Given the description of an element on the screen output the (x, y) to click on. 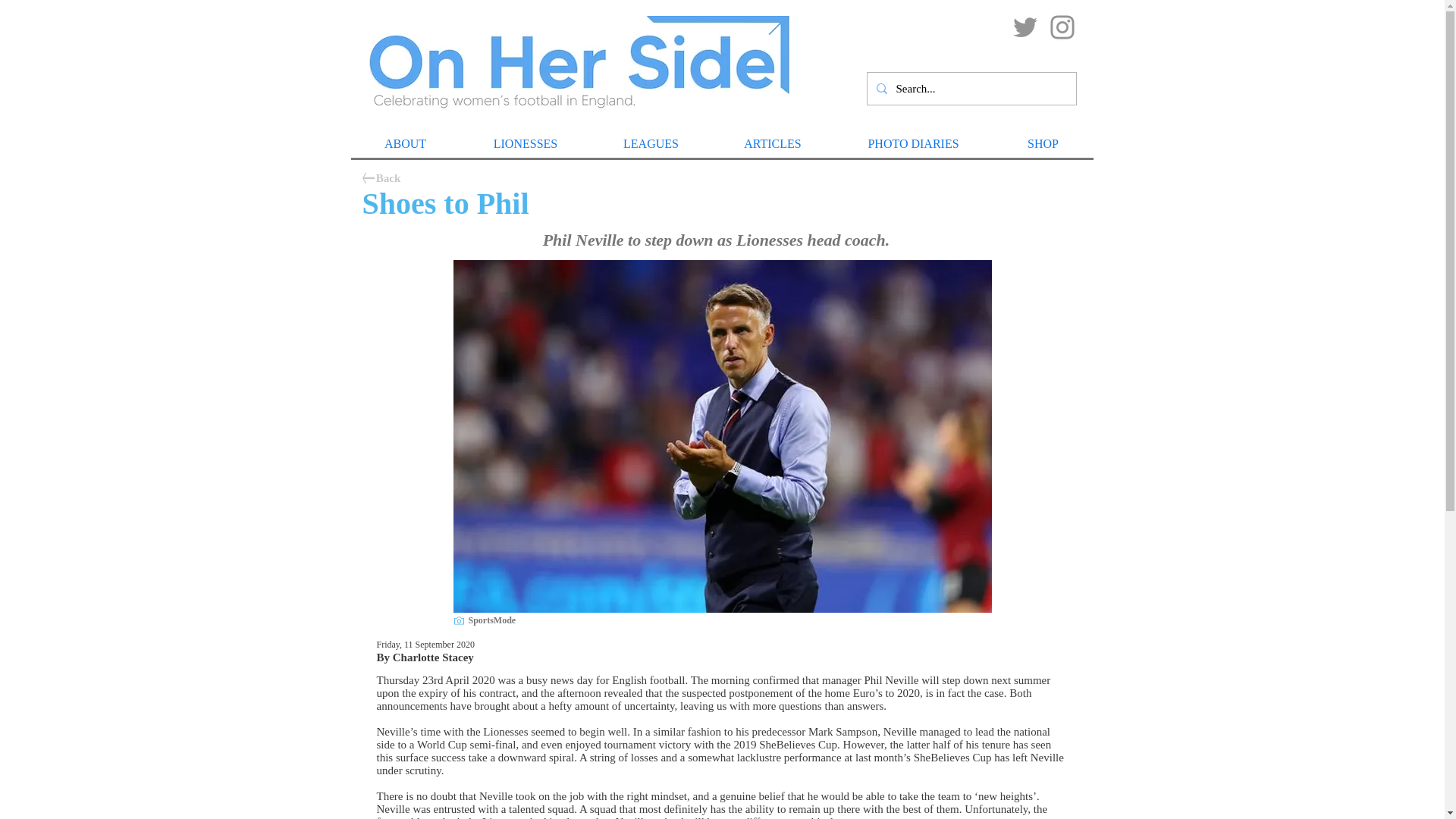
ARTICLES (772, 144)
SHOP (1042, 144)
By Charlotte Stacey (424, 656)
LIONESSES (524, 144)
ABOUT (405, 144)
Back (387, 178)
LEAGUES (649, 144)
PHOTO DIARIES (913, 144)
